Given the description of an element on the screen output the (x, y) to click on. 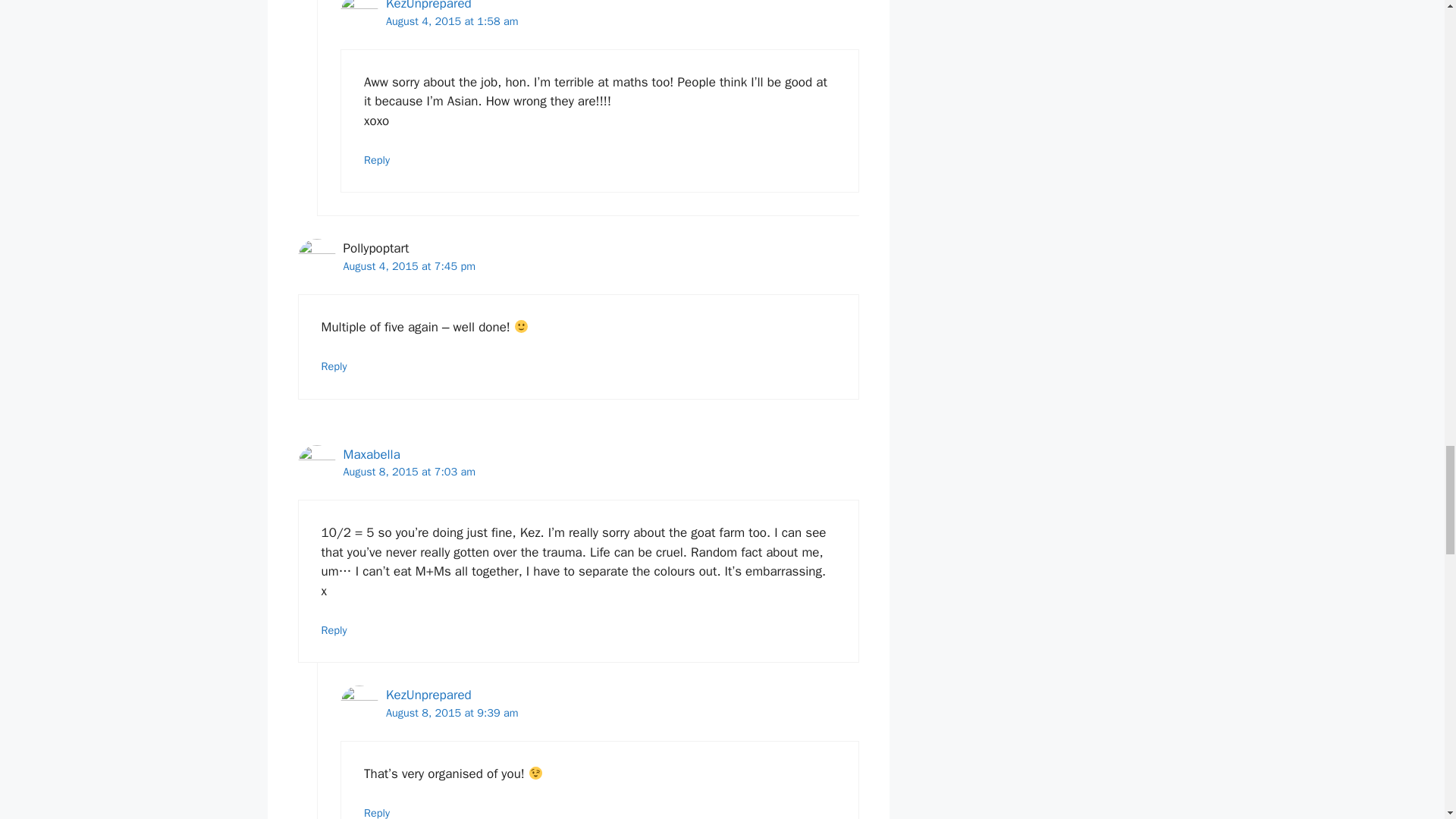
KezUnprepared (428, 5)
Reply (377, 160)
August 4, 2015 at 7:45 pm (409, 265)
August 8, 2015 at 9:39 am (451, 712)
Reply (334, 366)
Reply (377, 812)
August 8, 2015 at 7:03 am (409, 471)
KezUnprepared (428, 694)
Reply (334, 630)
August 4, 2015 at 1:58 am (451, 20)
Maxabella (370, 454)
